Given the description of an element on the screen output the (x, y) to click on. 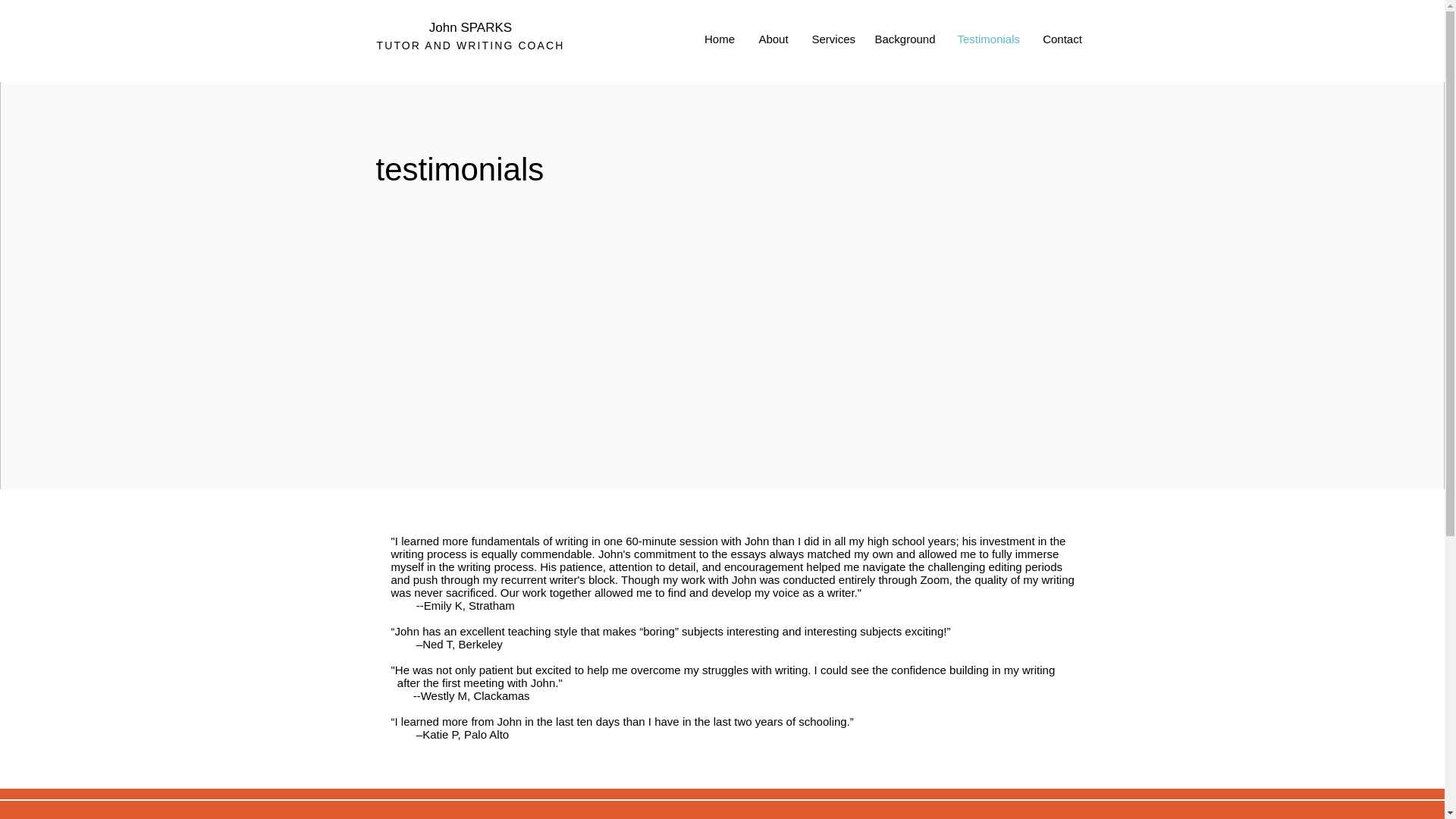
Contact (1062, 39)
TUTOR AND WRITING COACH (470, 45)
Background (903, 39)
Testimonials (988, 39)
John SPARKS (470, 27)
Home (719, 39)
Services (831, 39)
About (772, 39)
